Given the description of an element on the screen output the (x, y) to click on. 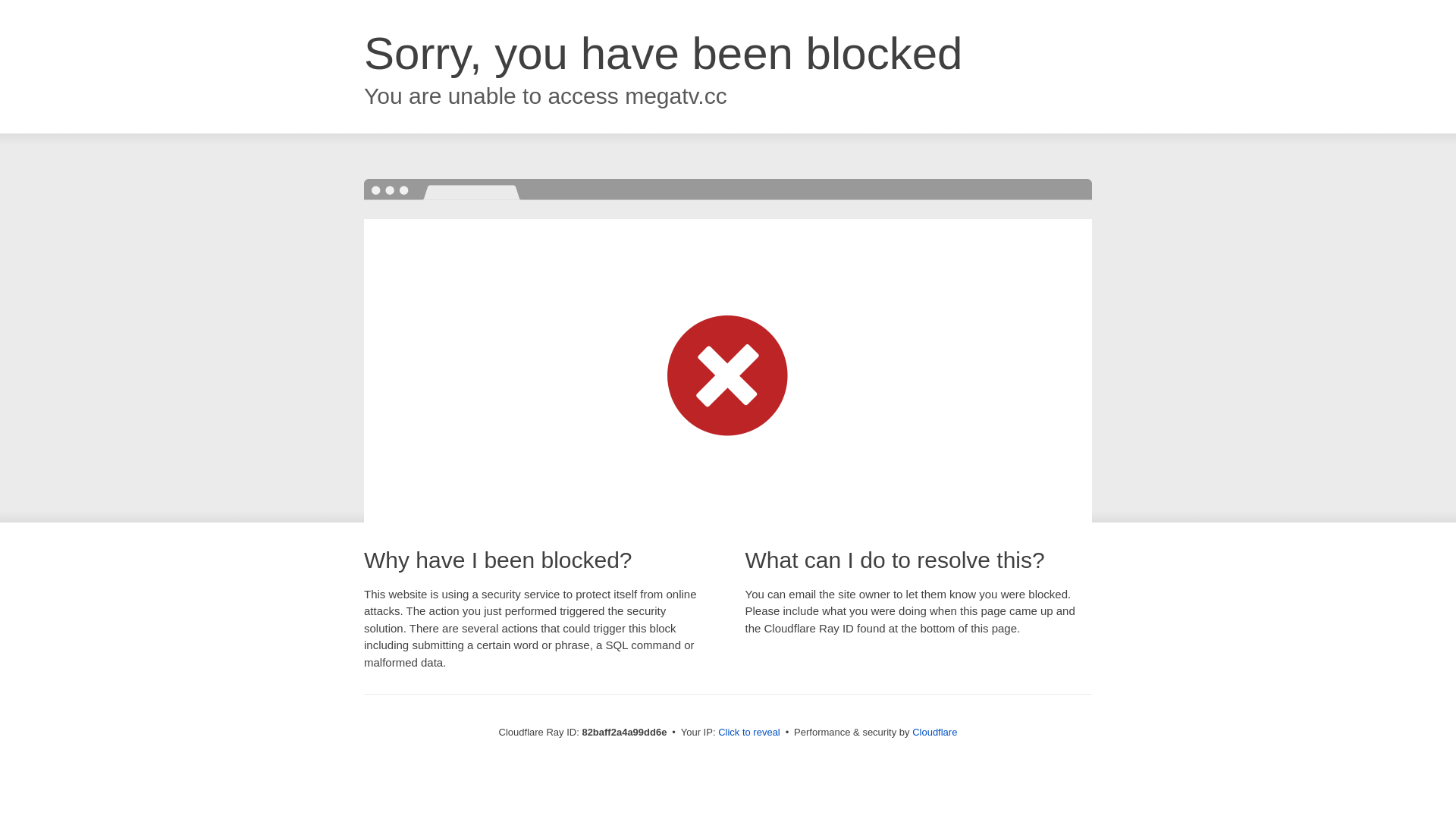
Cloudflare Element type: text (934, 731)
Click to reveal Element type: text (749, 732)
